Given the description of an element on the screen output the (x, y) to click on. 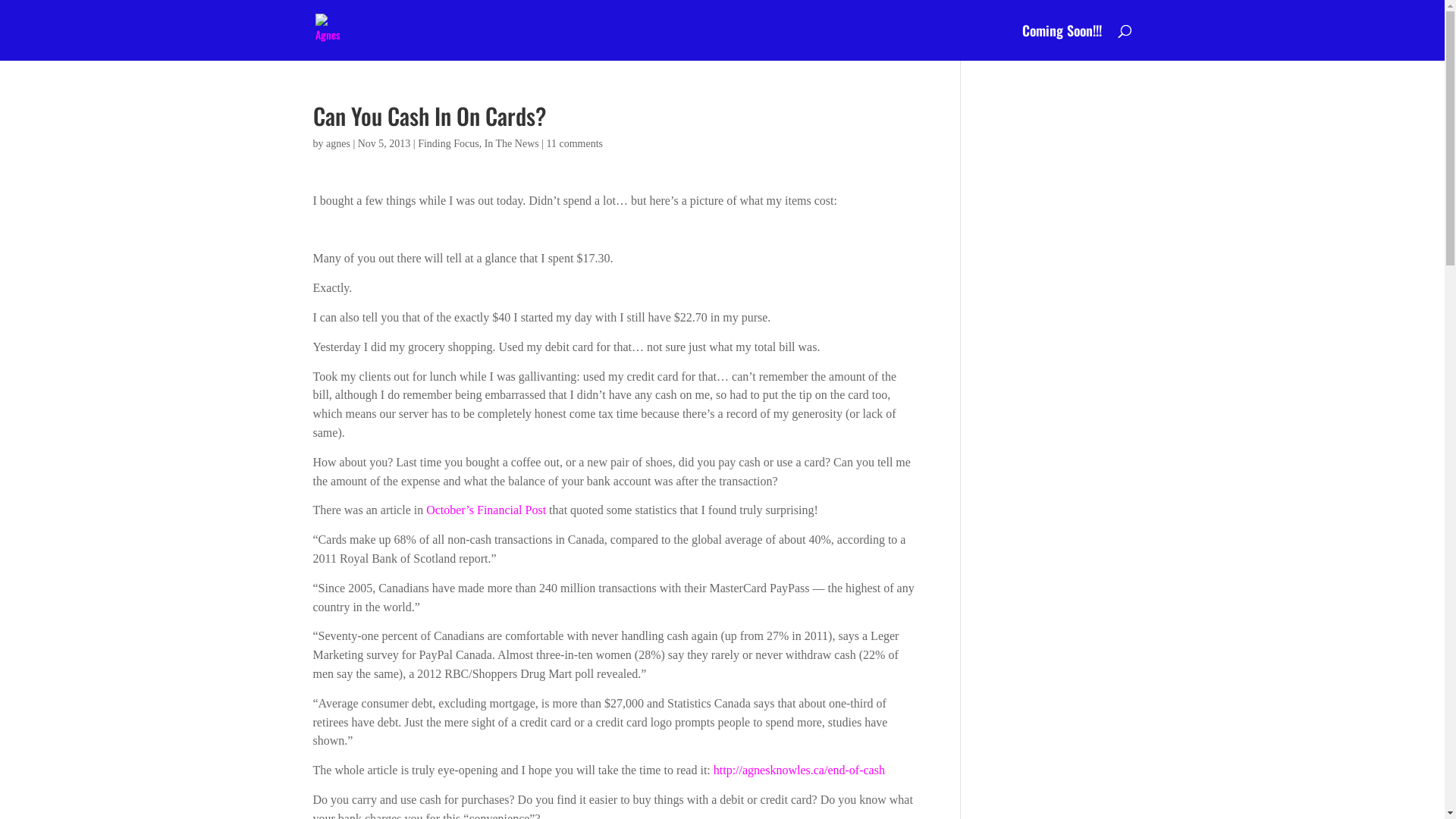
agnes Element type: text (338, 143)
In The News Element type: text (511, 143)
http://agnesknowles.ca/end-of-cash Element type: text (798, 769)
Coming Soon!!! Element type: text (1061, 42)
Finding Focus Element type: text (448, 143)
11 comments Element type: text (574, 143)
